Given the description of an element on the screen output the (x, y) to click on. 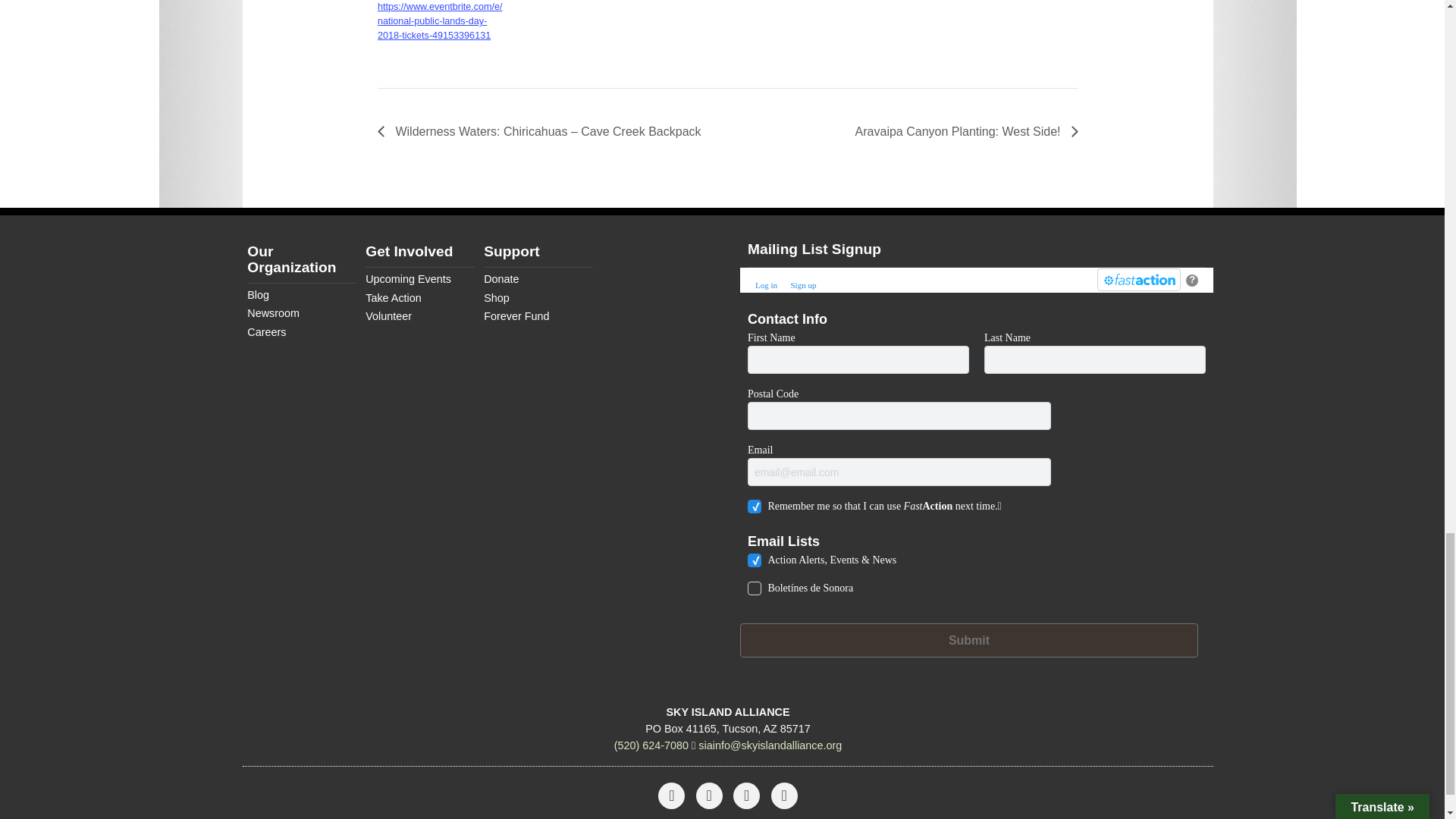
Submit (968, 640)
